Given the description of an element on the screen output the (x, y) to click on. 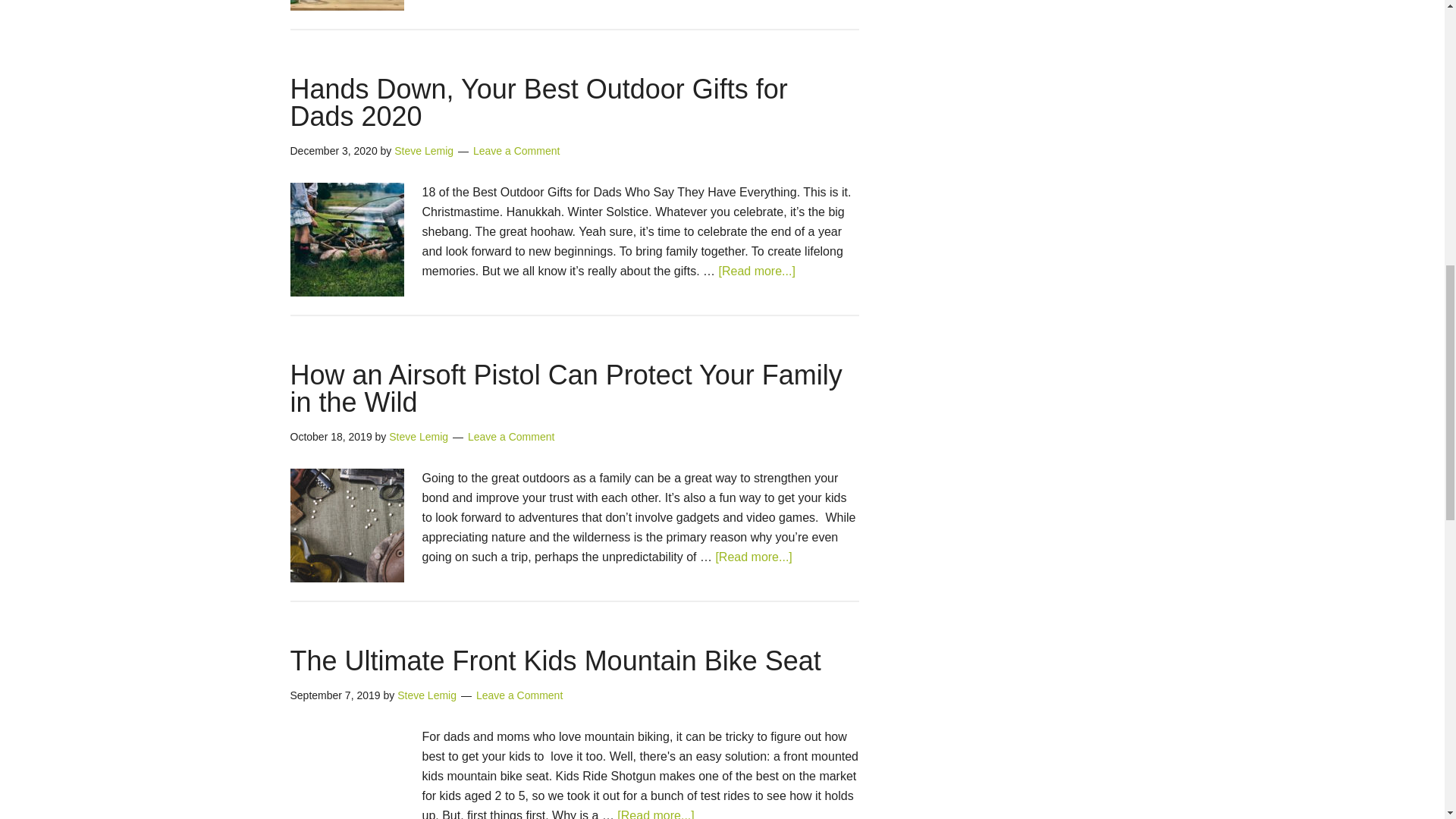
Hands Down, Your Best Outdoor Gifts for Dads 2020 (538, 102)
Leave a Comment (516, 150)
Steve Lemig (423, 150)
